Given the description of an element on the screen output the (x, y) to click on. 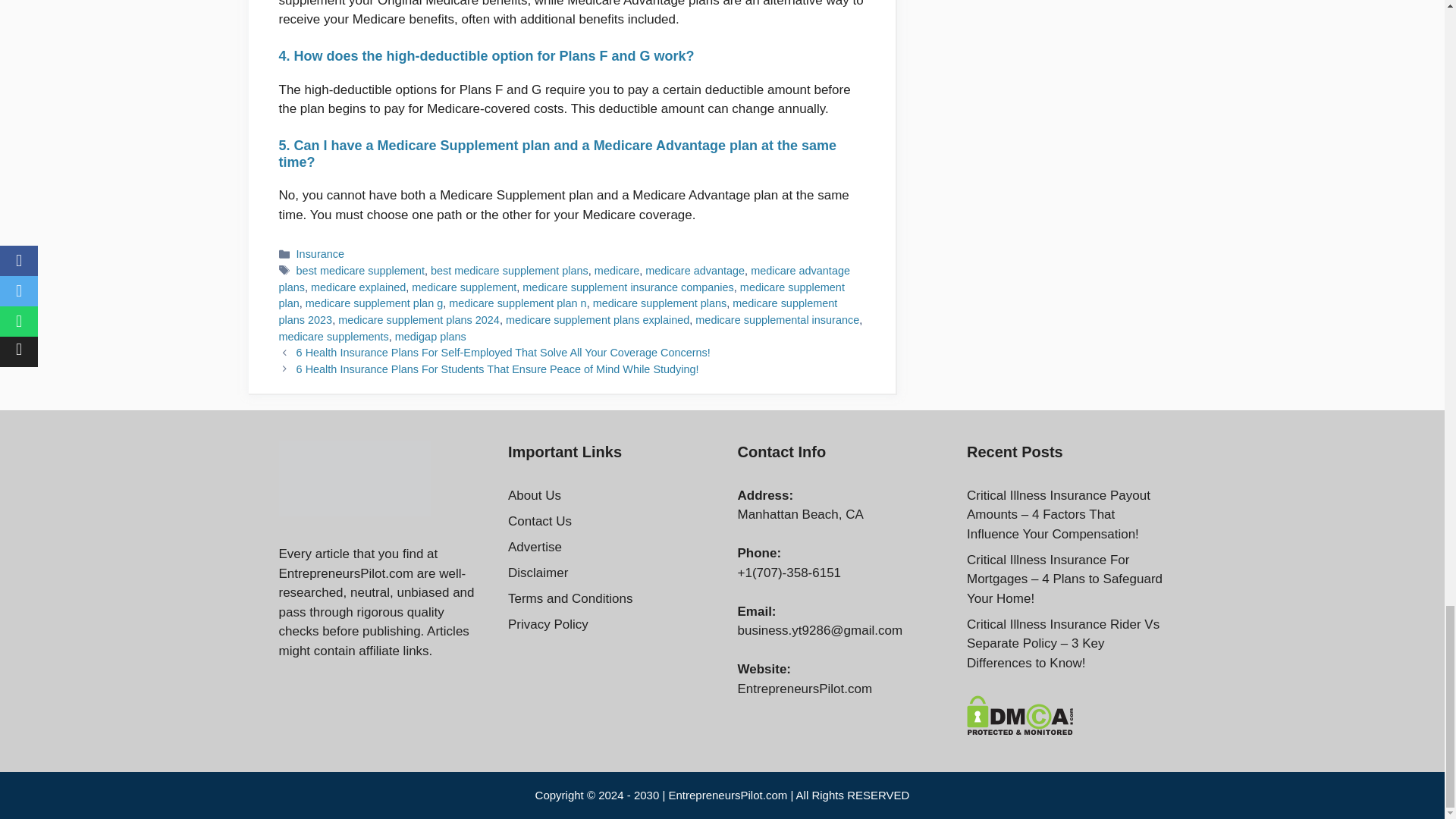
EntrepreneursPilot's DMCA Protection Declaration (1020, 730)
